Given the description of an element on the screen output the (x, y) to click on. 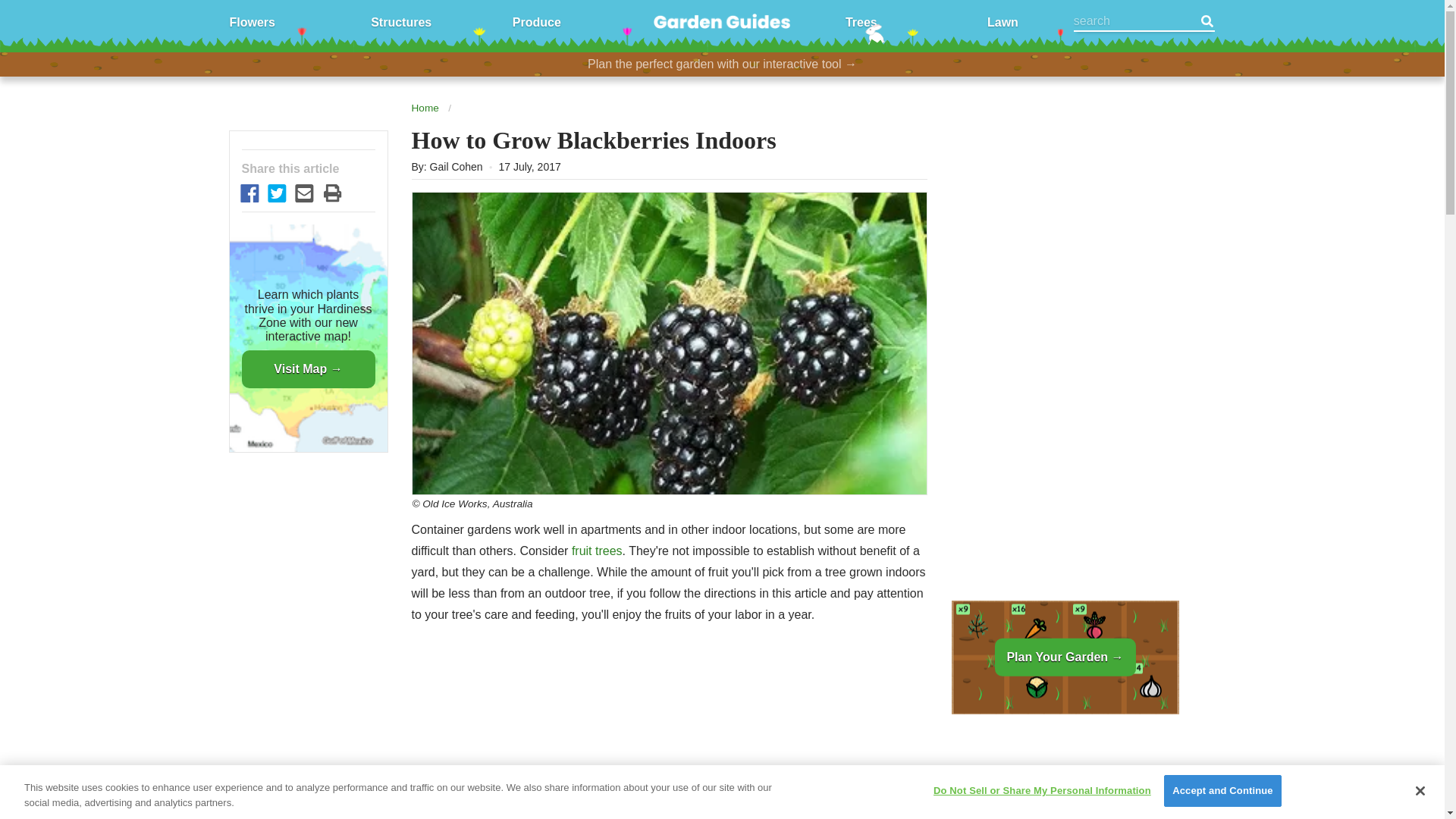
fruit trees (597, 550)
Produce (536, 21)
Trees (861, 21)
Flowers (251, 21)
Home (424, 107)
3rd party ad content (668, 734)
Lawn (1002, 21)
3rd party ad content (1063, 772)
Structures (400, 21)
3rd party ad content (1063, 227)
